Given the description of an element on the screen output the (x, y) to click on. 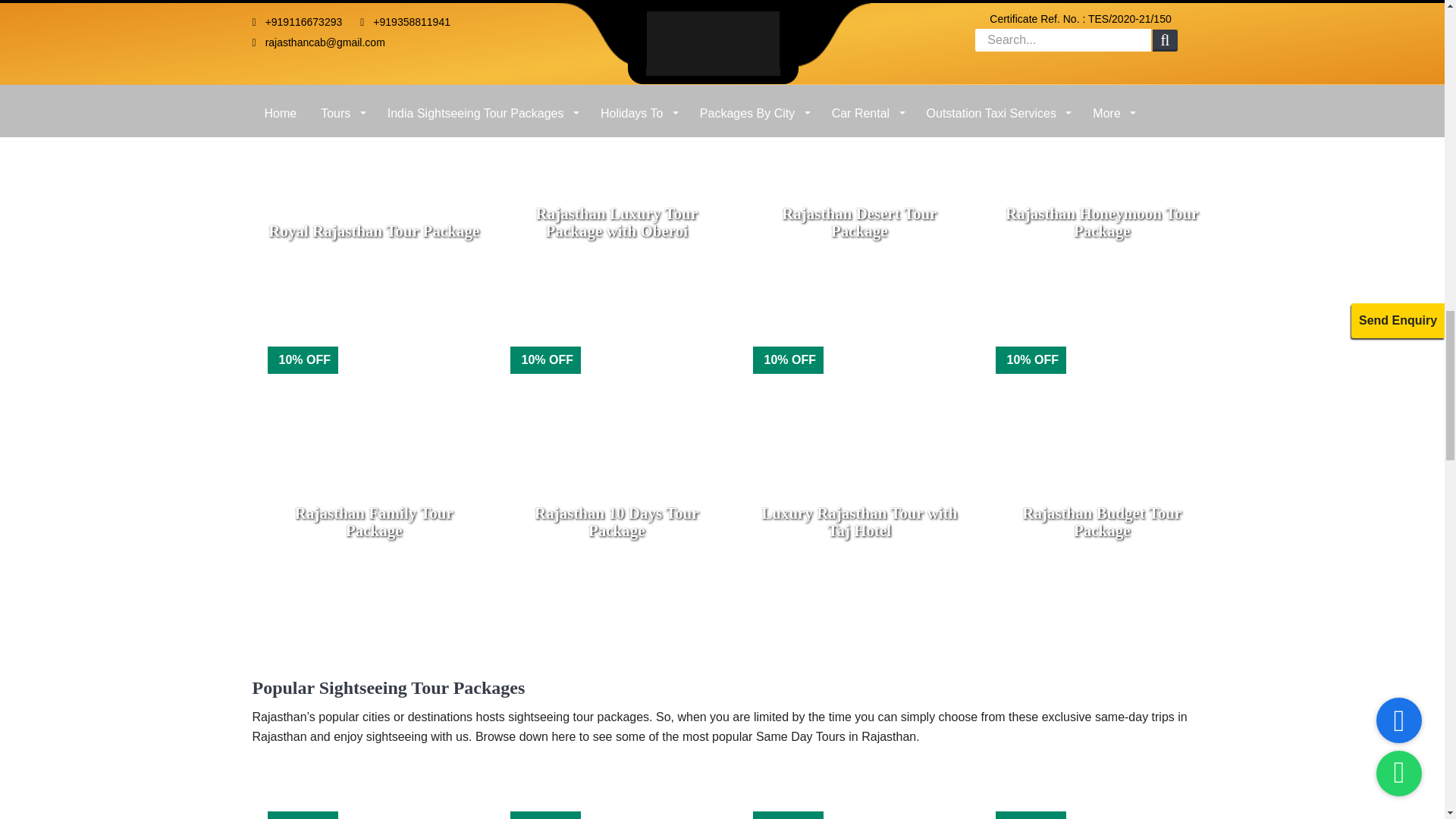
Jaipur Sightseeing Tour Package (372, 801)
Mount Sightseeing Tour Package (1100, 801)
Jaisalmer Sightseeing Tour Package (857, 801)
Udaipur Sightseeing Tour Package (615, 801)
